Given the description of an element on the screen output the (x, y) to click on. 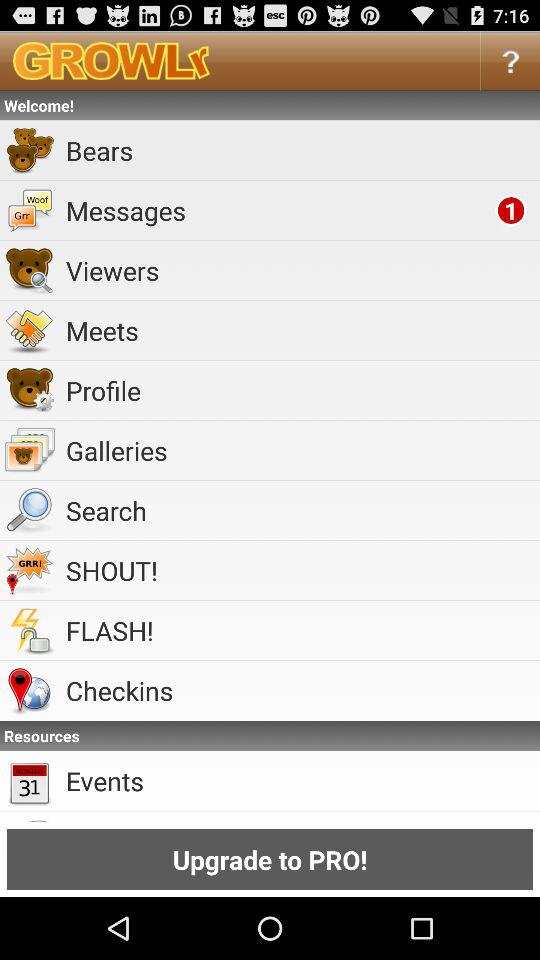
open profile icon (299, 390)
